Given the description of an element on the screen output the (x, y) to click on. 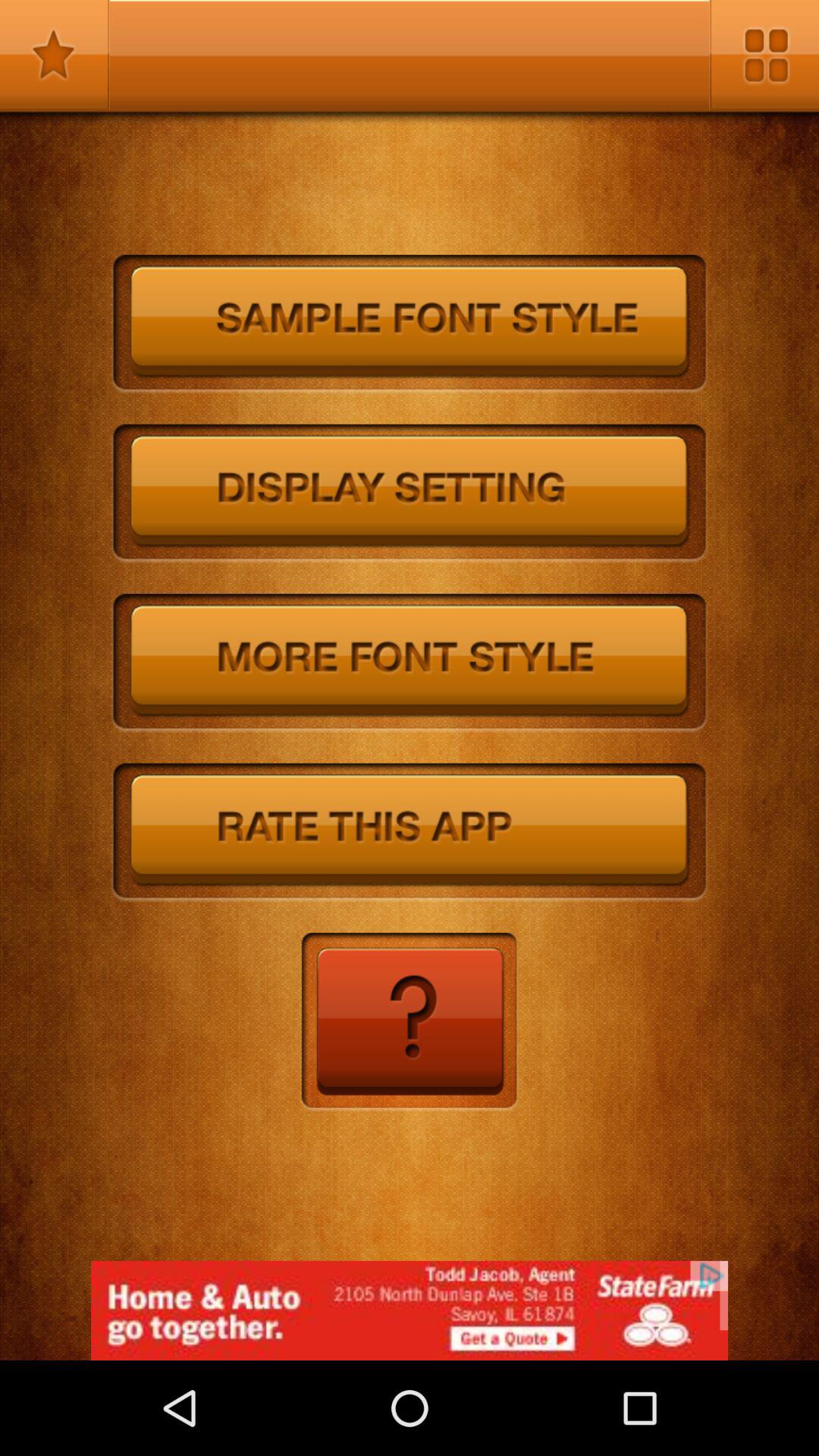
font style (409, 324)
